Given the description of an element on the screen output the (x, y) to click on. 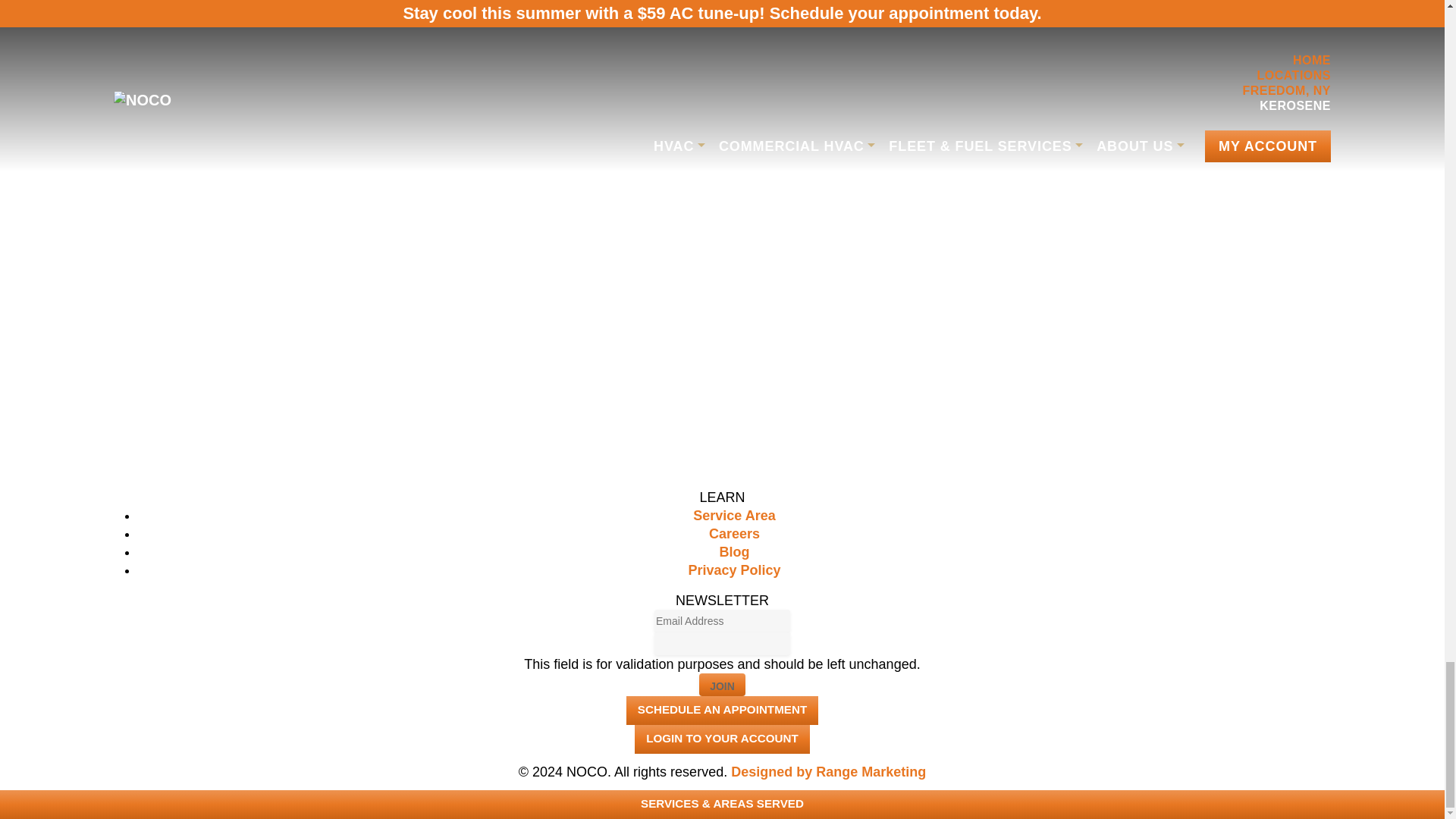
Website Designed by Range Marketing (828, 771)
Join (721, 684)
